Given the description of an element on the screen output the (x, y) to click on. 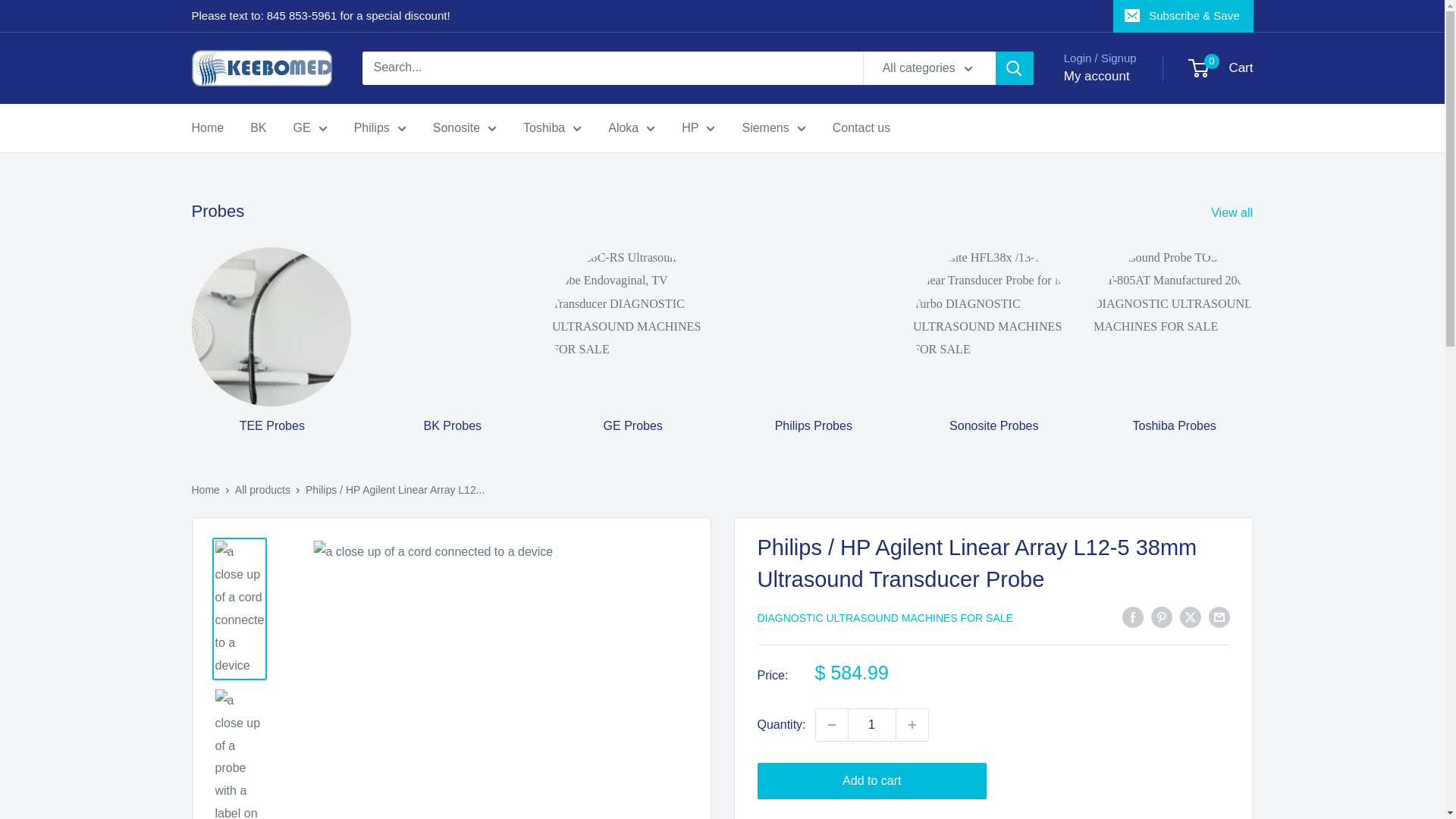
1 (871, 725)
Increase quantity by 1 (912, 725)
Decrease quantity by 1 (831, 725)
